Given the description of an element on the screen output the (x, y) to click on. 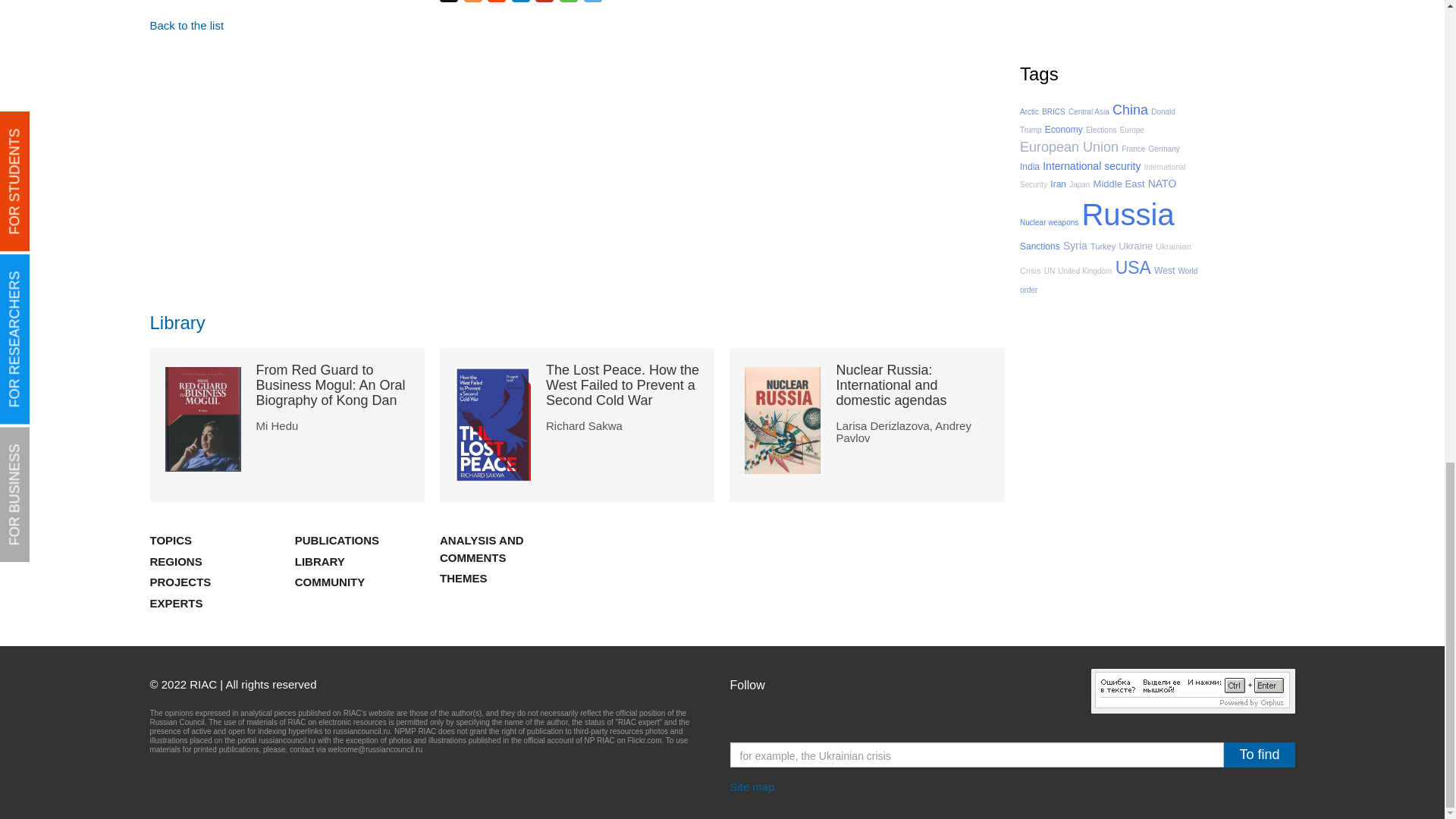
Blogger (474, 1)
reddit (497, 1)
Twitter (450, 1)
